Given the description of an element on the screen output the (x, y) to click on. 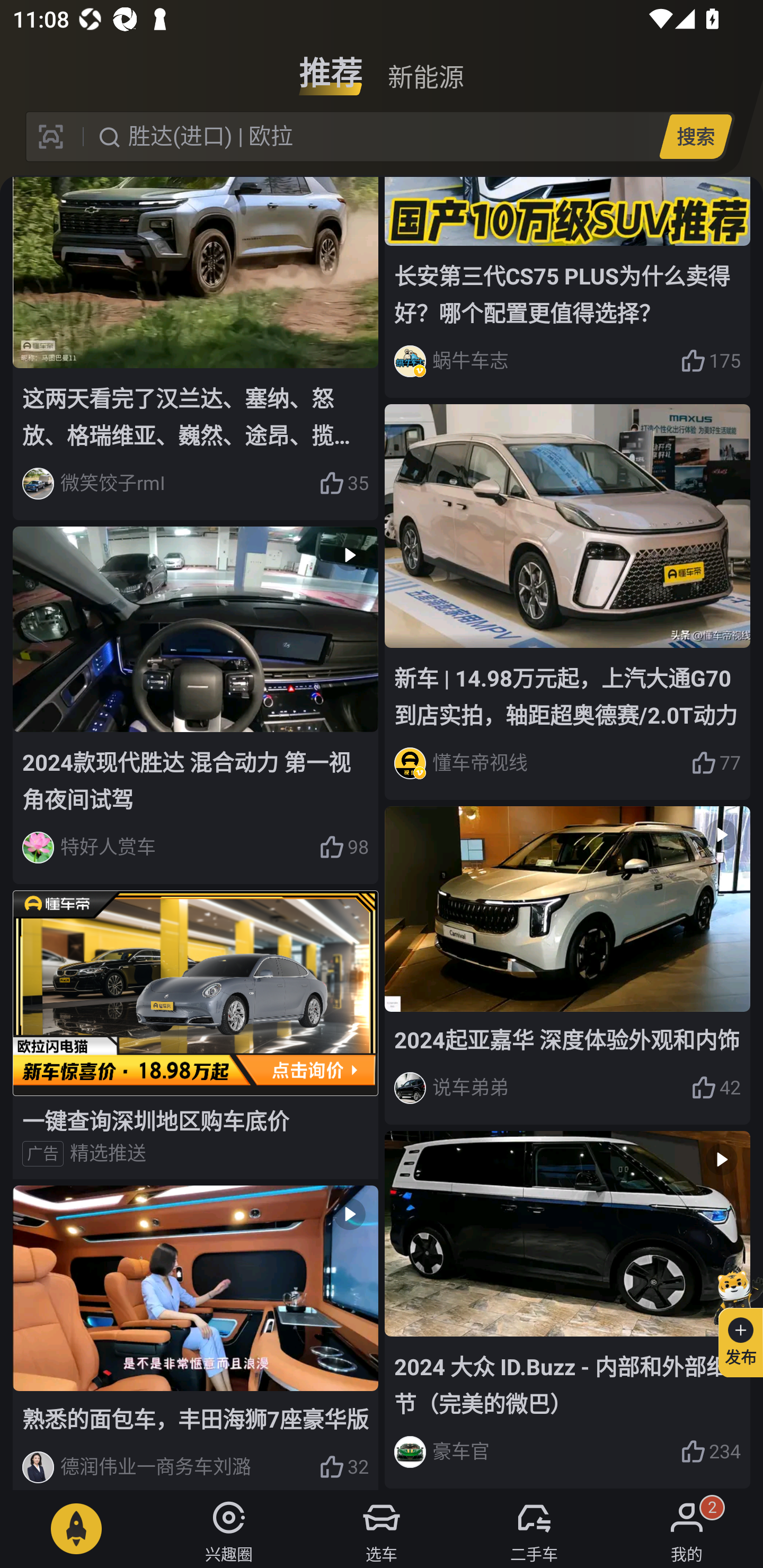
推荐 (330, 65)
新能源 (425, 65)
搜索 (695, 136)
长安第三代CS75 PLUS为什么卖得好？哪个配置更值得选择？ 蜗牛车志 175 (567, 287)
175 (710, 361)
新车 | 14.98万元起，上汽大通G70到店实拍，轴距超奥德赛/2.0T动力 懂车帝视线 77 (567, 601)
35 (343, 483)
 2024款现代胜达 混合动力 第一视角夜间试驾 特好人赏车 98 (195, 705)
77 (715, 763)
 2024起亚嘉华 深度体验外观和内饰 说车弟弟 42 (567, 964)
98 (343, 847)
一键查询深圳地区购车底价 广告 精选推送 (195, 1034)
42 (715, 1087)
 2024 大众 ID.Buzz - 内部和外部细节（完美的微巴） 豪车官 234 (567, 1309)
 熟悉的面包车，丰田海狮7座豪华版 德润伟业一商务车刘潞 32 (195, 1337)
发布 (732, 1321)
234 (710, 1451)
32 (343, 1466)
 兴趣圈 (228, 1528)
 选车 (381, 1528)
 二手车 (533, 1528)
 我的 (686, 1528)
